Given the description of an element on the screen output the (x, y) to click on. 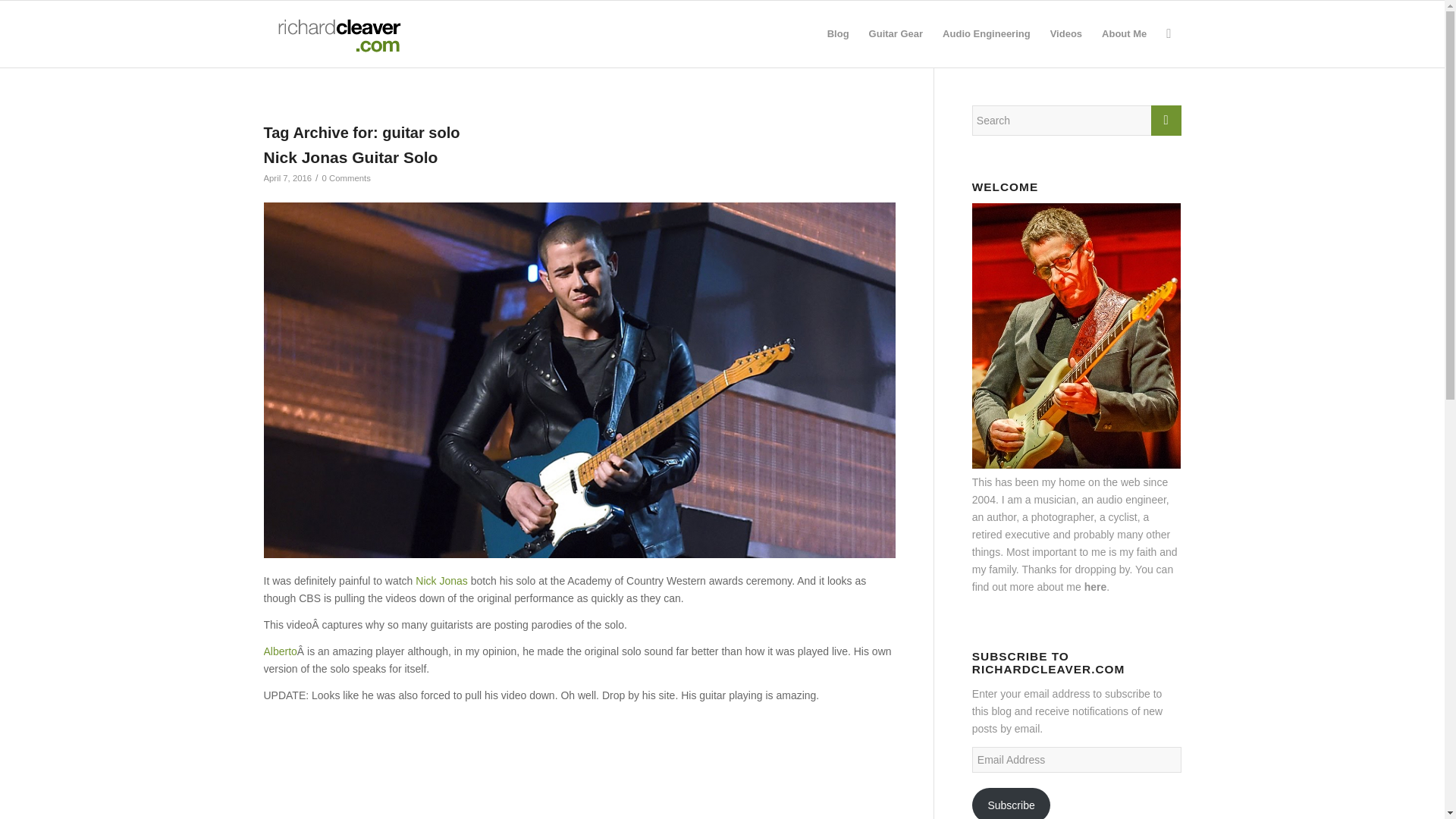
Audio Engineering (987, 33)
Permanent Link: Nick Jonas Guitar Solo (350, 157)
About Me (1124, 33)
rcdotcomlogo (336, 33)
Subscribe (1011, 803)
Nick Jonas (440, 580)
0 Comments (346, 177)
Nick Jonas Guitar Solo (350, 157)
Guitar Gear (896, 33)
here (1095, 586)
Alberto (280, 651)
